Given the description of an element on the screen output the (x, y) to click on. 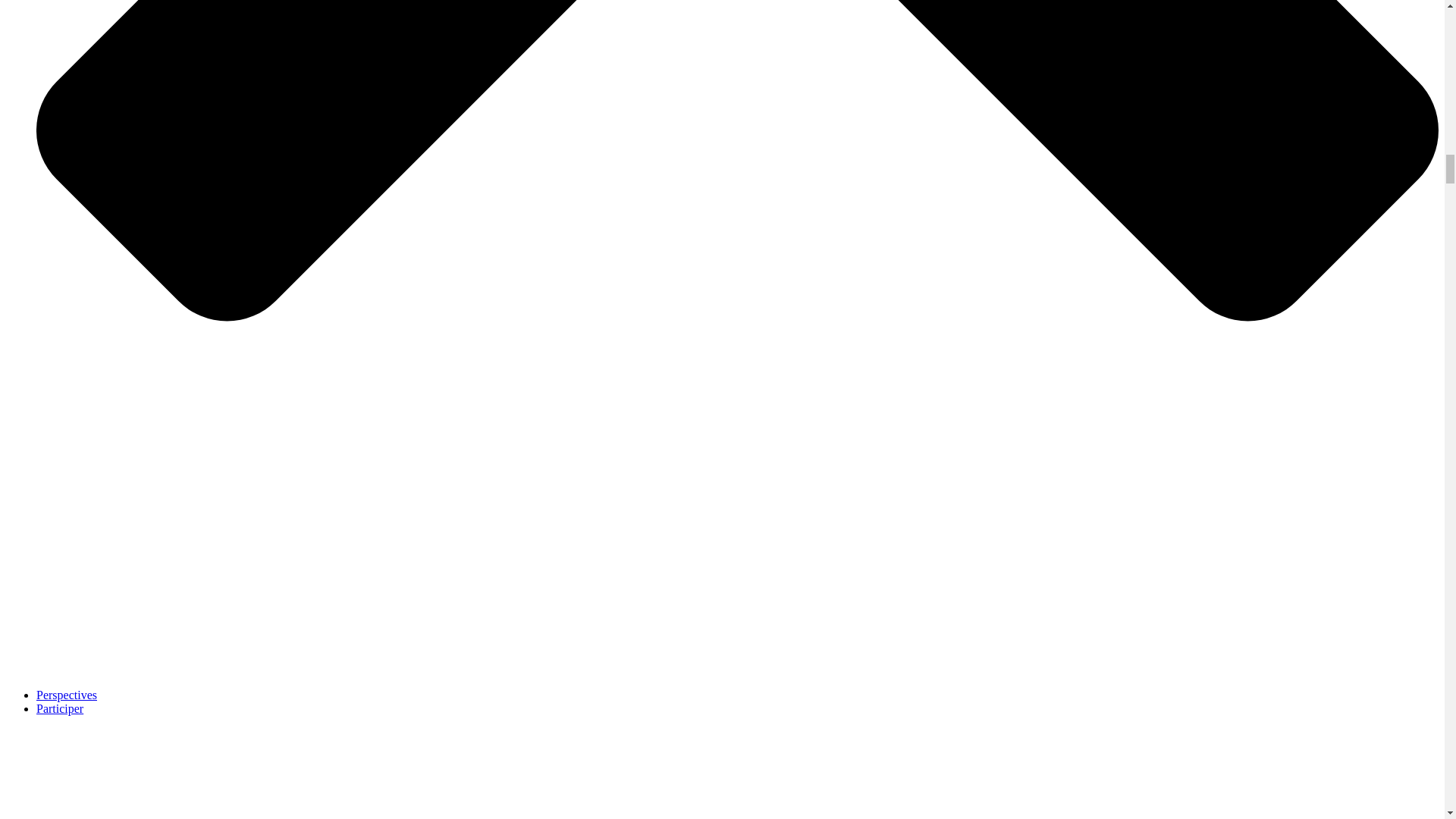
Perspectives (66, 694)
Perspectives (66, 694)
